Given the description of an element on the screen output the (x, y) to click on. 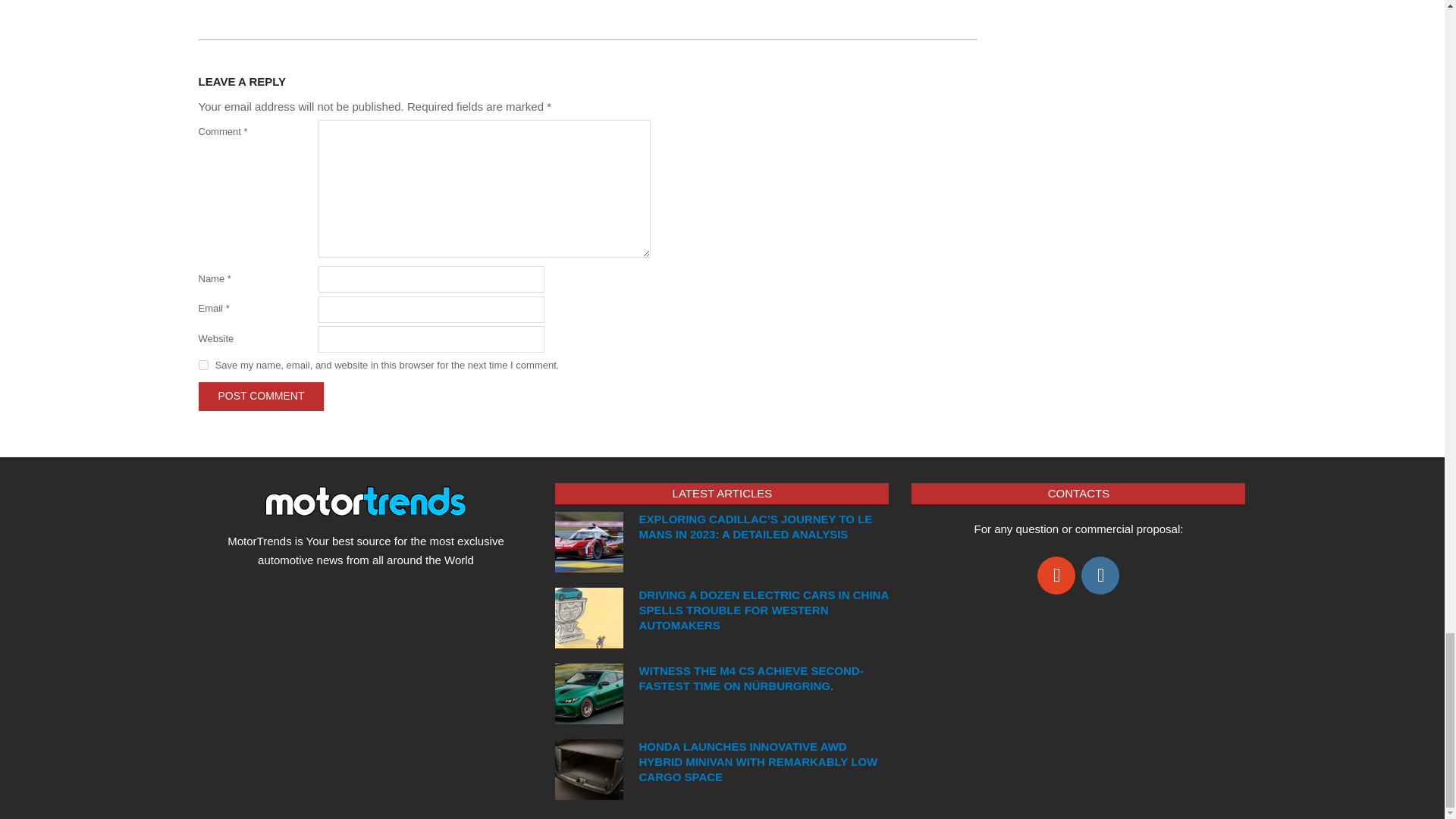
Post Comment (261, 396)
Post Comment (261, 396)
yes (203, 365)
